Given the description of an element on the screen output the (x, y) to click on. 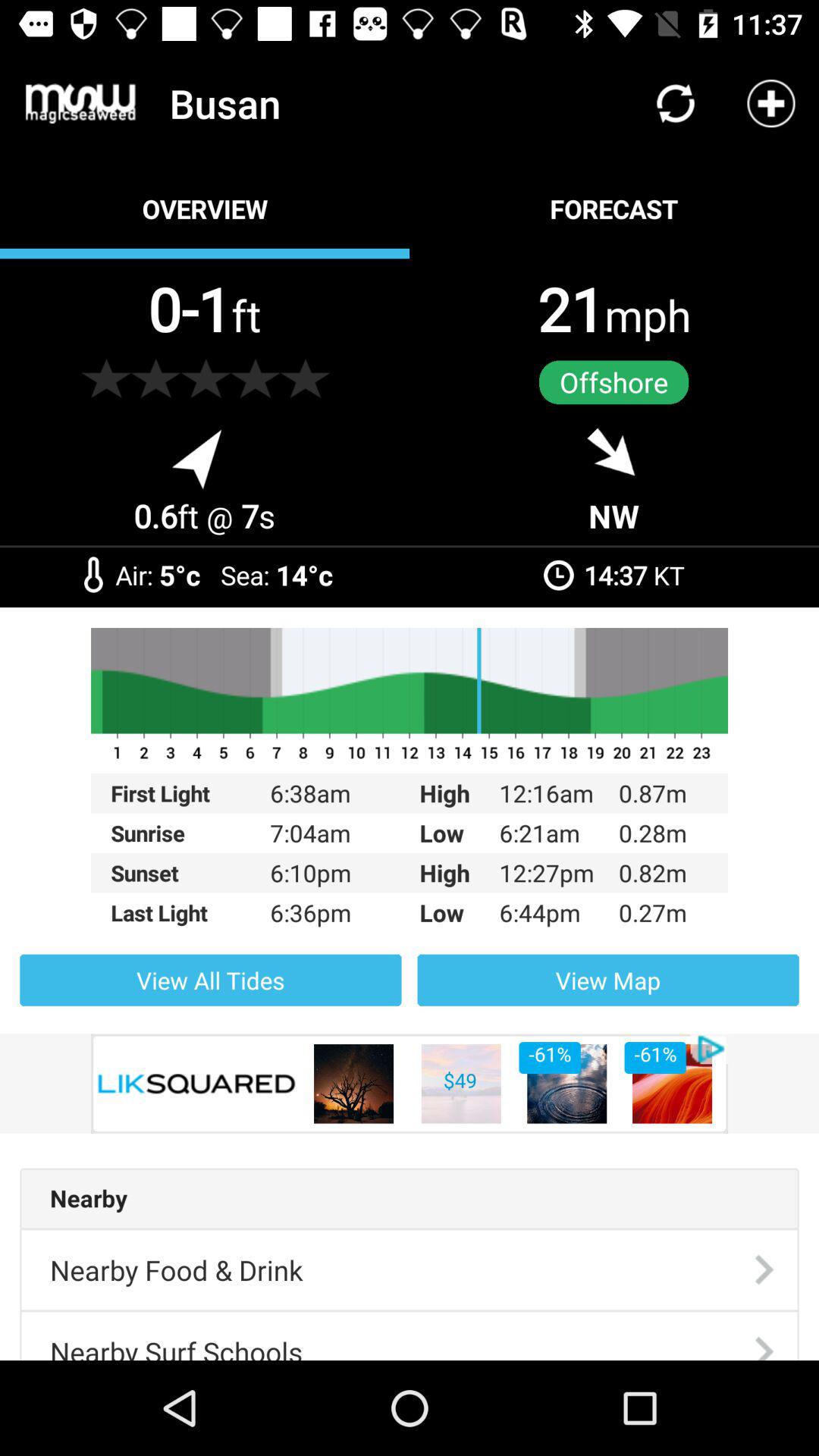
turn off icon above the low item (409, 793)
